Given the description of an element on the screen output the (x, y) to click on. 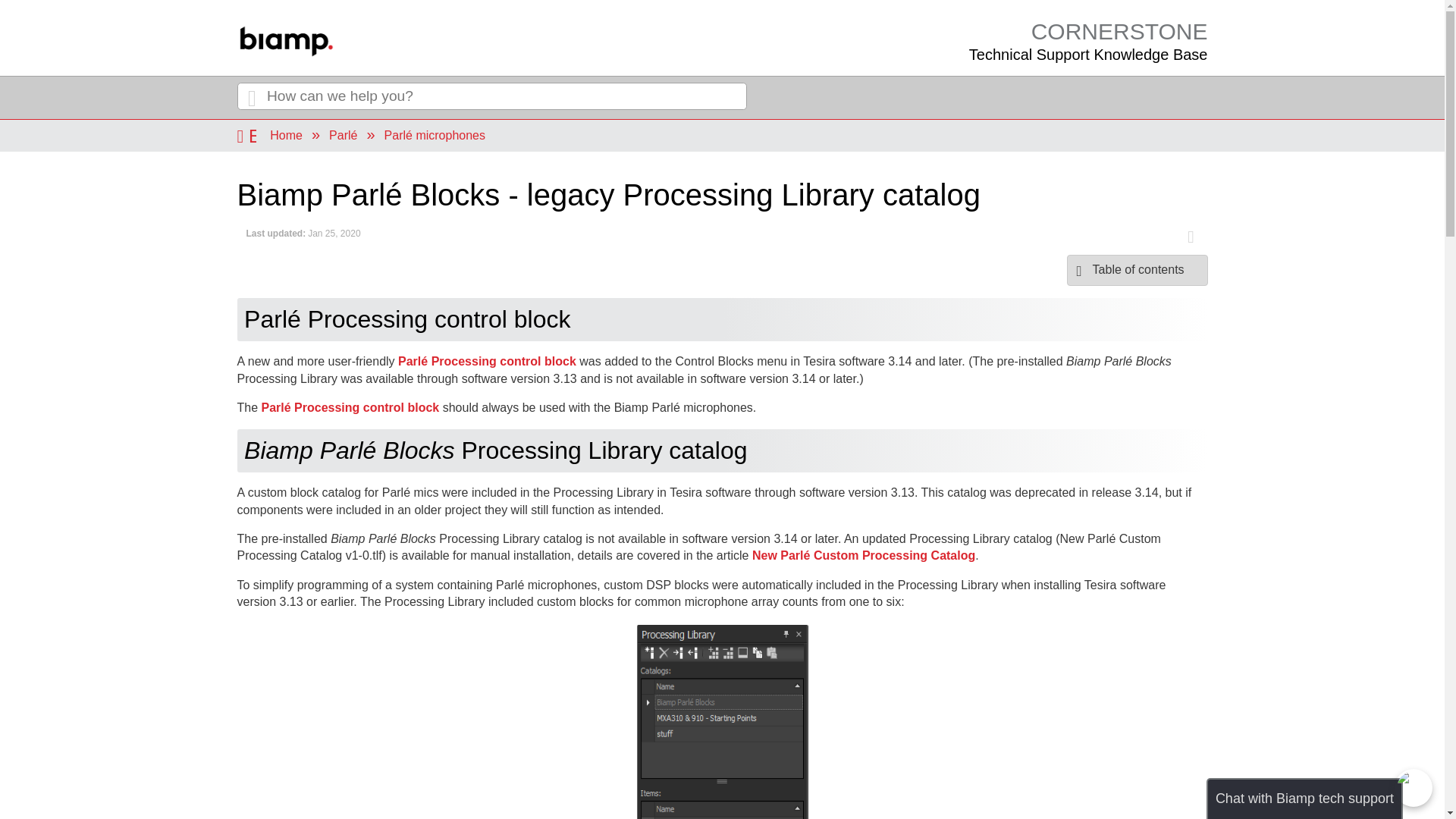
Table of contents (1137, 270)
Search (250, 96)
Home (1088, 40)
